Given the description of an element on the screen output the (x, y) to click on. 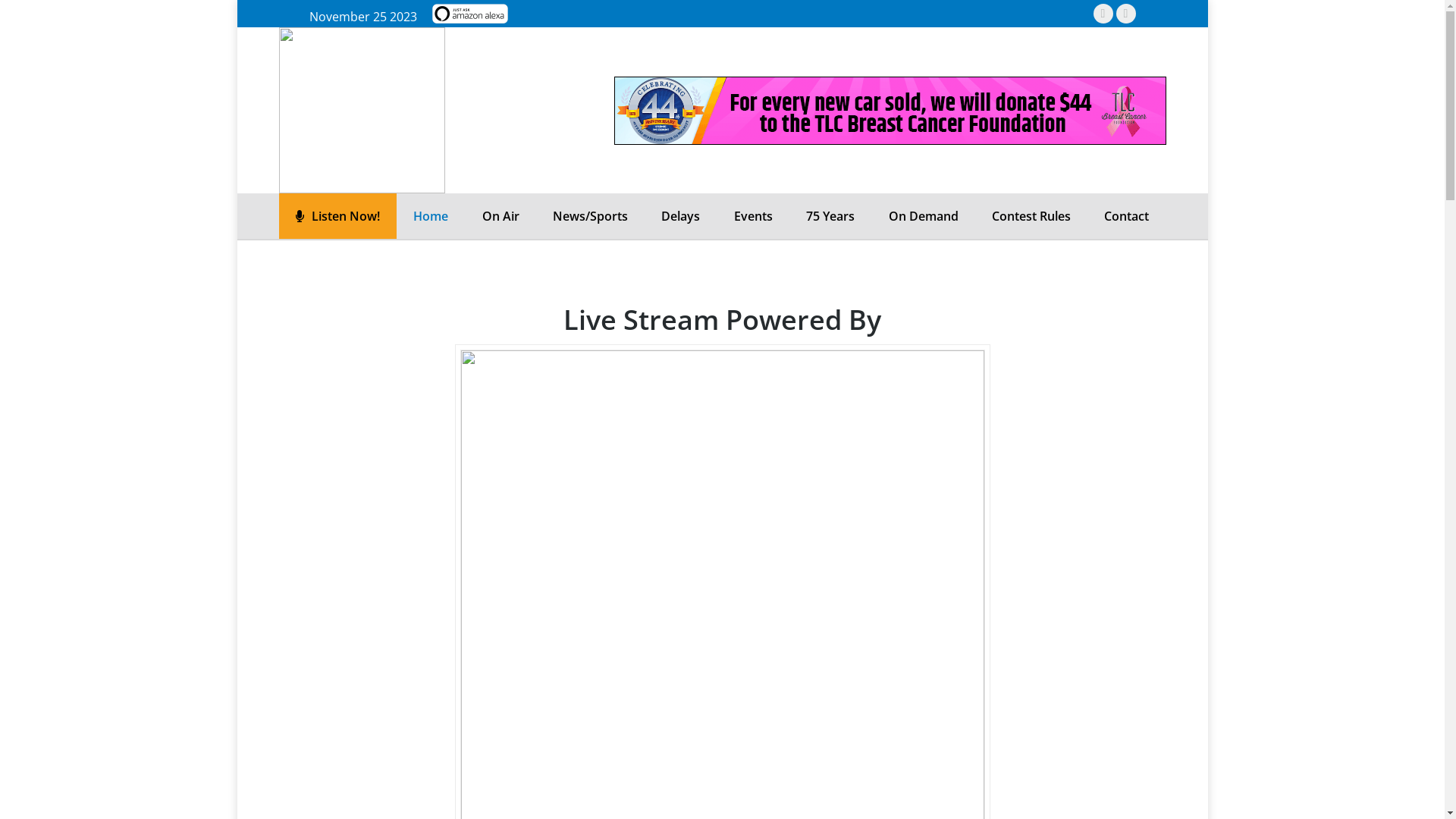
Home Element type: text (430, 216)
Facebook page opens in new window Element type: text (1103, 12)
Delays Element type: text (680, 216)
3rd party ad content Element type: hover (890, 109)
On Air Element type: text (499, 216)
Listen Now! Element type: text (337, 216)
Contest Rules Element type: text (1031, 216)
News/Sports Element type: text (589, 216)
75 Years Element type: text (830, 216)
On Demand Element type: text (922, 216)
Twitter page opens in new window Element type: text (1125, 12)
Events Element type: text (753, 216)
Contact Element type: text (1126, 216)
